Given the description of an element on the screen output the (x, y) to click on. 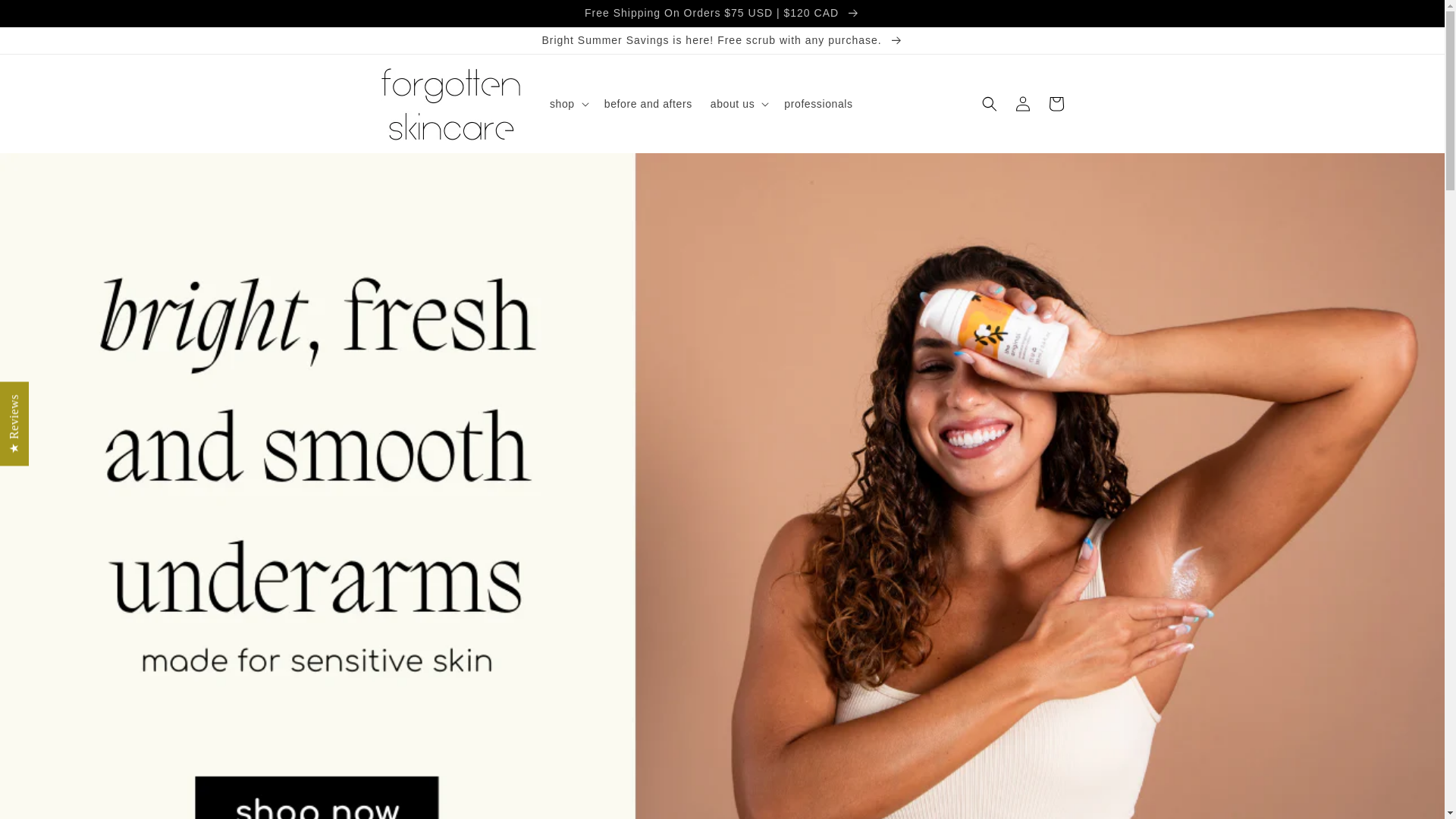
professionals (817, 103)
Log in (1022, 103)
Skip to content (45, 16)
before and afters (648, 103)
